Given the description of an element on the screen output the (x, y) to click on. 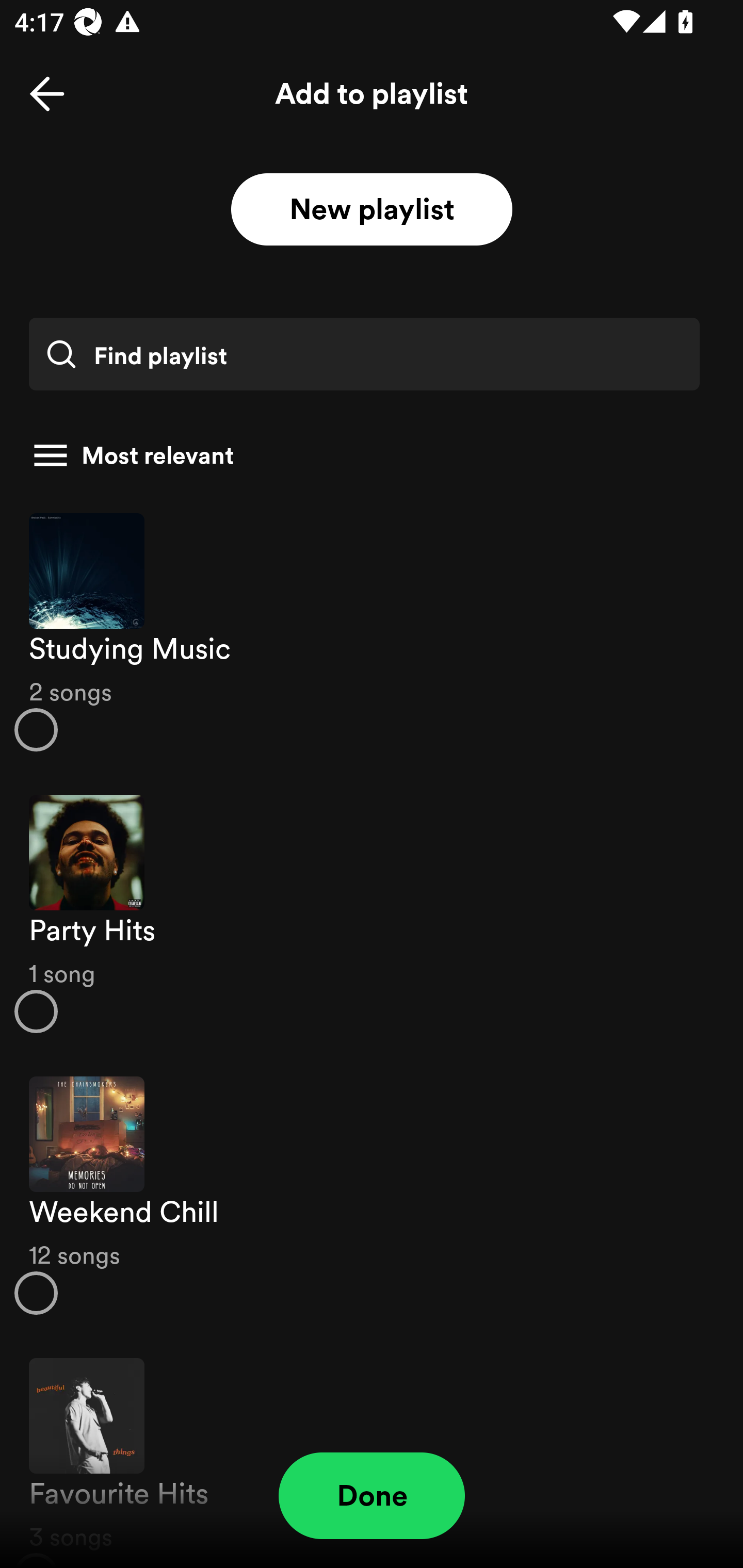
Back (46, 93)
New playlist (371, 210)
Find playlist (363, 354)
Most relevant (363, 455)
Studying Music 2 songs (371, 631)
Party Hits 1 song (371, 914)
Weekend Chill 12 songs (371, 1195)
Favourite Hits 3 songs (371, 1451)
Done (371, 1495)
